Given the description of an element on the screen output the (x, y) to click on. 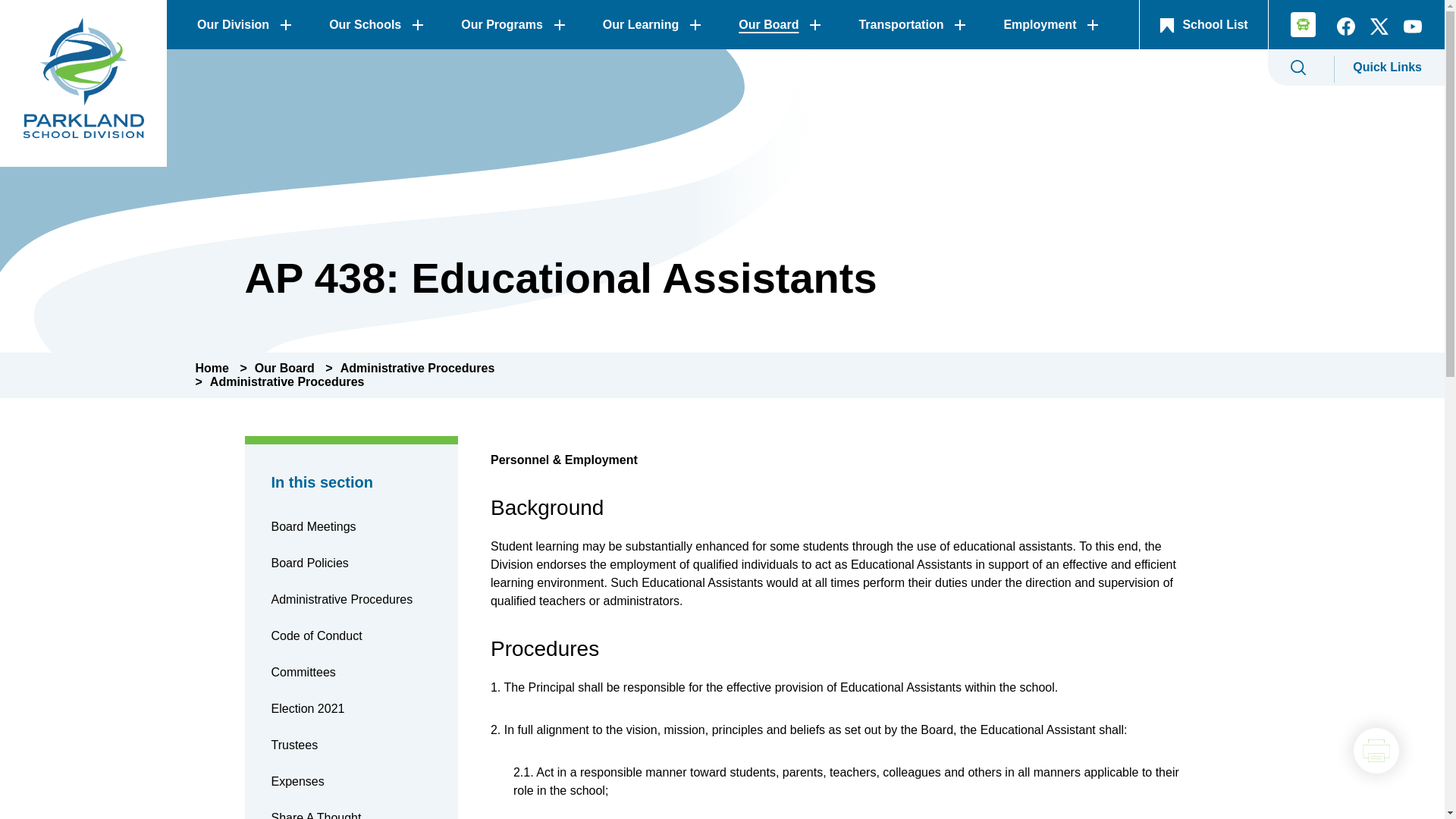
Twitter (1379, 30)
Bus Status (1298, 27)
Facebook (1345, 30)
Parkland School Division (83, 83)
Youtube (1412, 30)
